Given the description of an element on the screen output the (x, y) to click on. 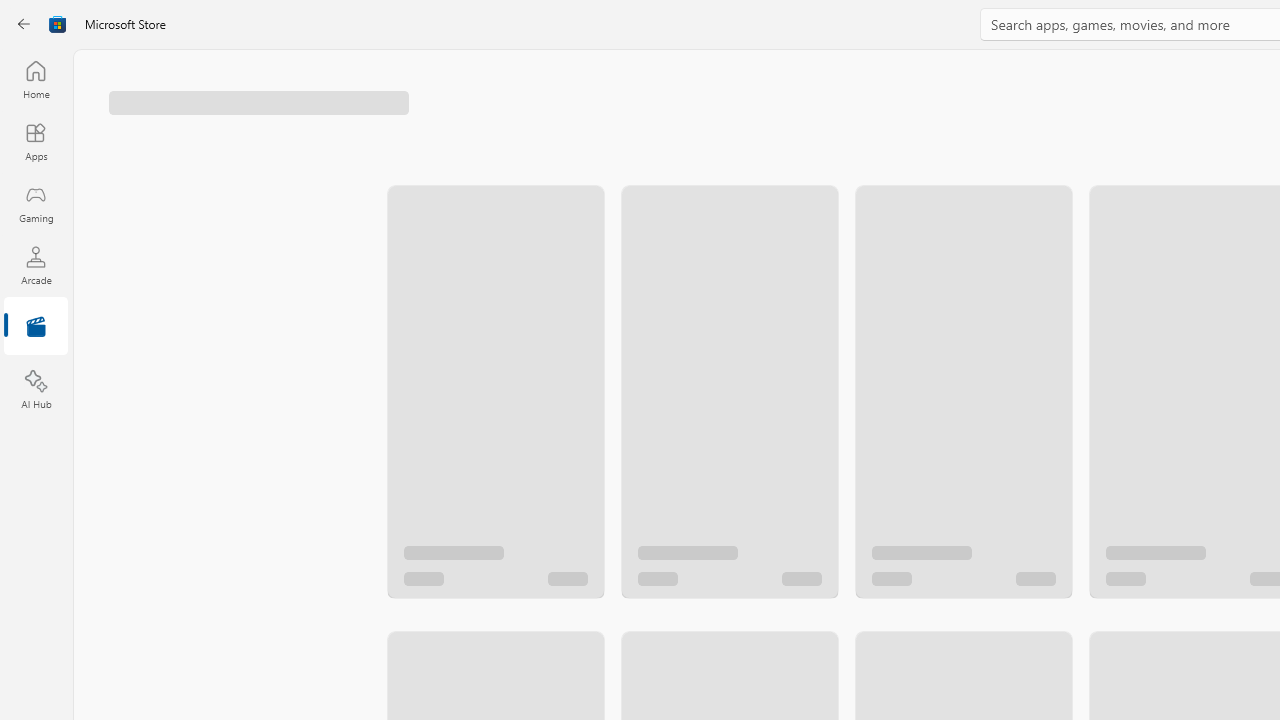
Back (24, 24)
Gaming (35, 203)
Home (35, 79)
Class: Image (58, 24)
Arcade (35, 265)
Jurassic World Ultimate Collection (1-6). Starts at $56.99   (728, 372)
Apps (35, 141)
Entertainment (35, 327)
AI Hub (35, 390)
